Given the description of an element on the screen output the (x, y) to click on. 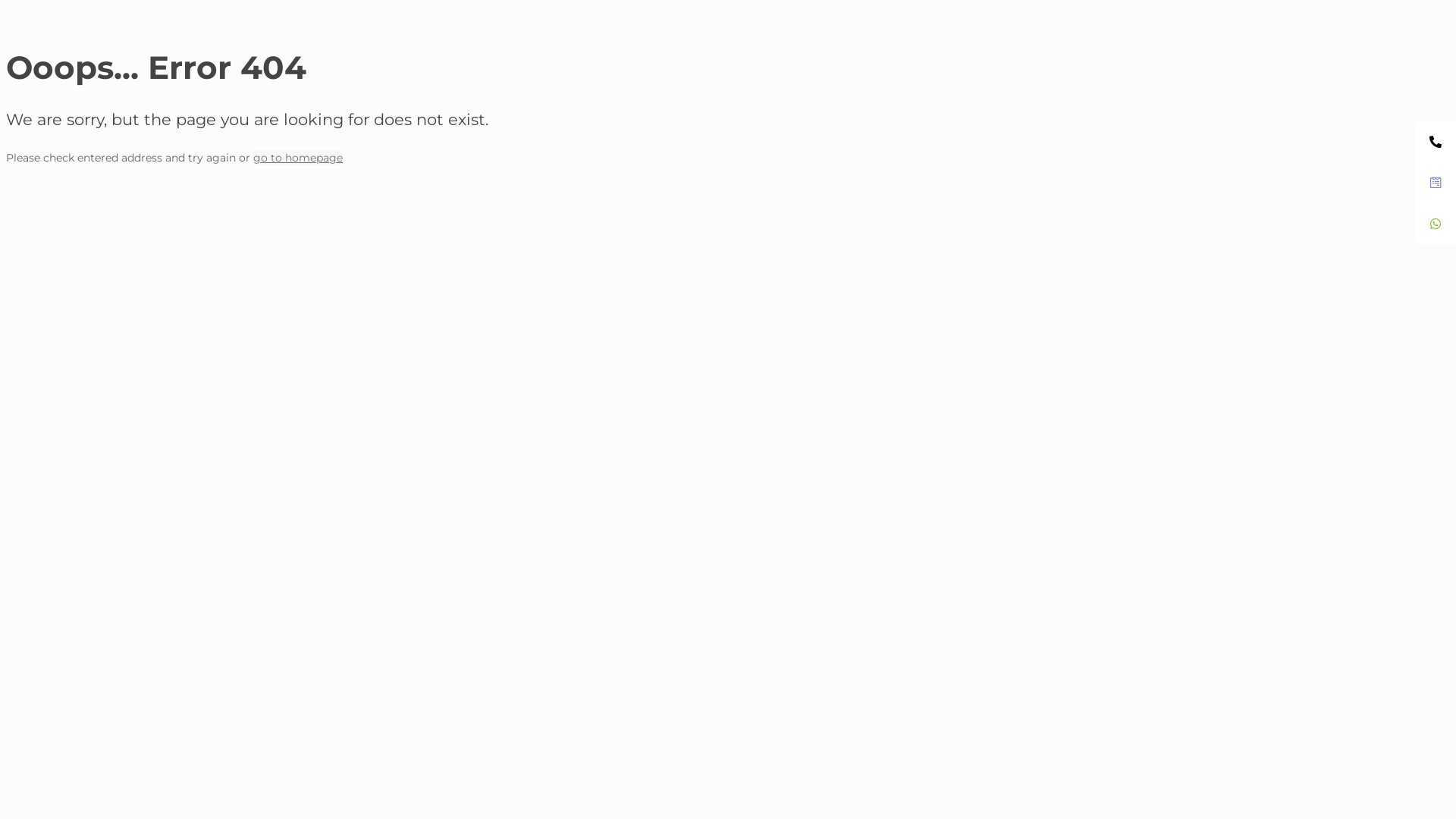
go to homepage Element type: text (297, 157)
